Given the description of an element on the screen output the (x, y) to click on. 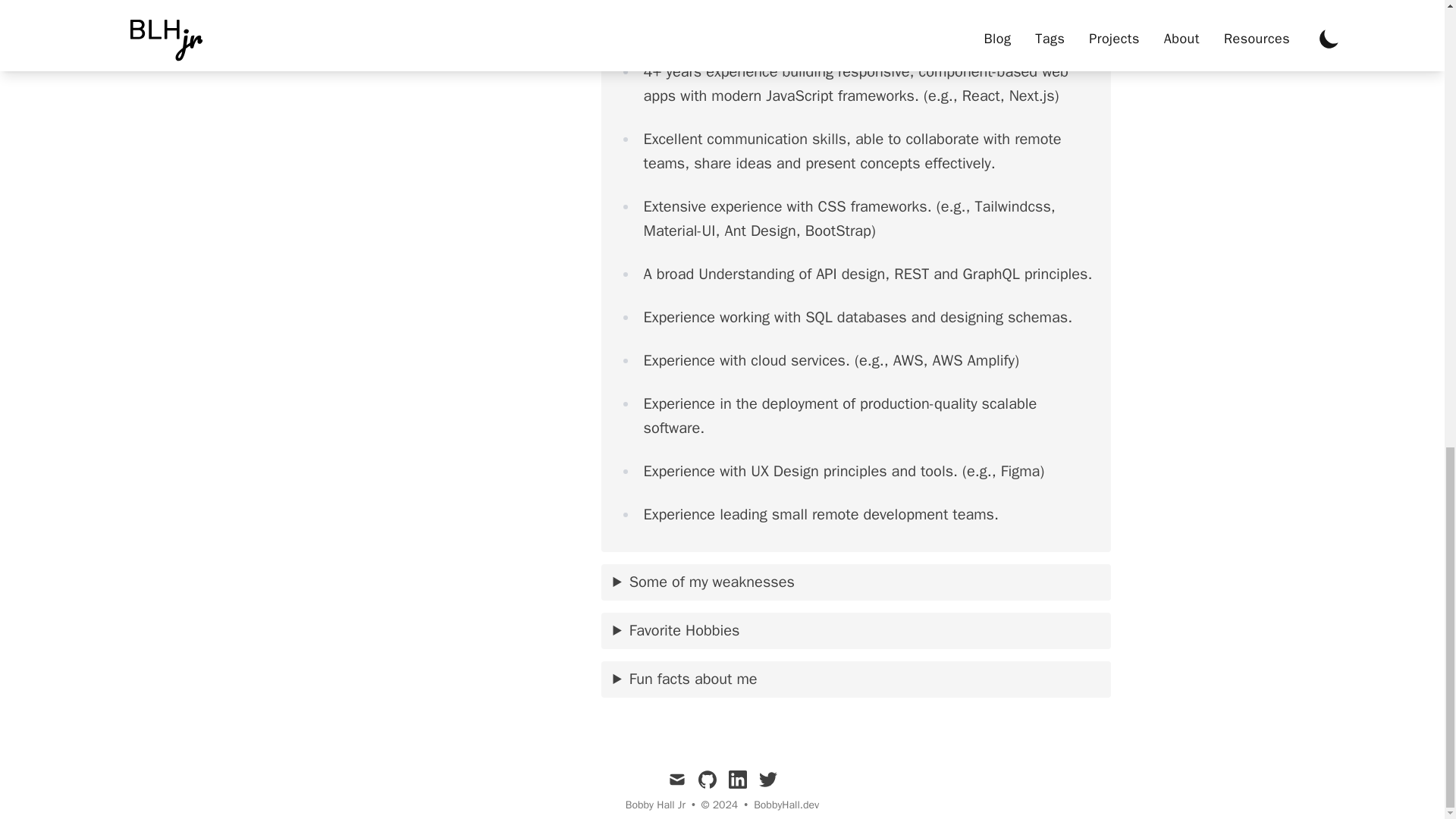
mail (675, 779)
BobbyHall.dev (786, 805)
github (706, 779)
linkedin (736, 779)
twitter (767, 779)
